Given the description of an element on the screen output the (x, y) to click on. 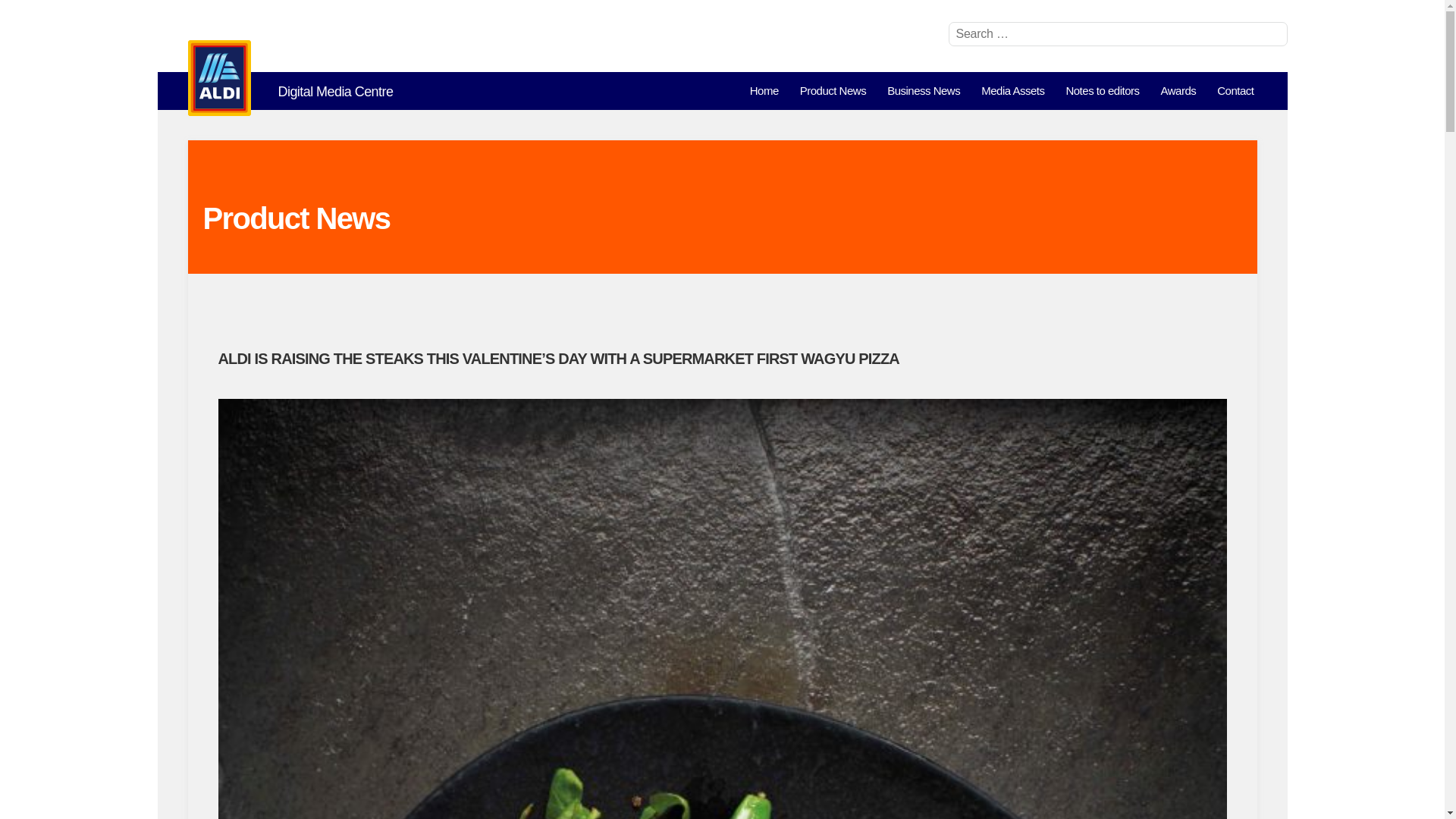
Home (764, 90)
Media Assets (1012, 90)
Business News (923, 90)
Product News (832, 90)
